Given the description of an element on the screen output the (x, y) to click on. 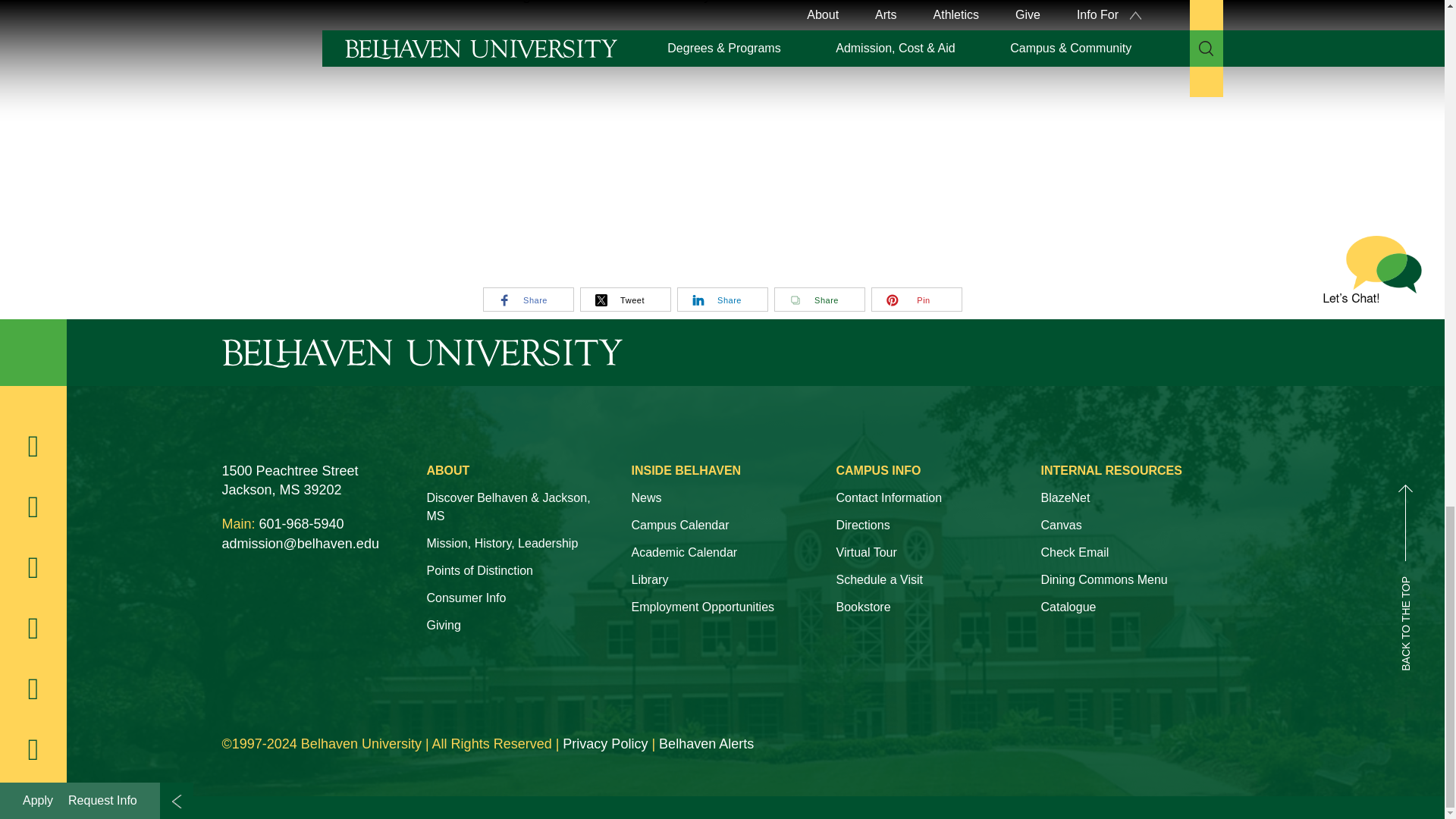
Joni Eareckson Tada and Belhaven University (501, 139)
